Given the description of an element on the screen output the (x, y) to click on. 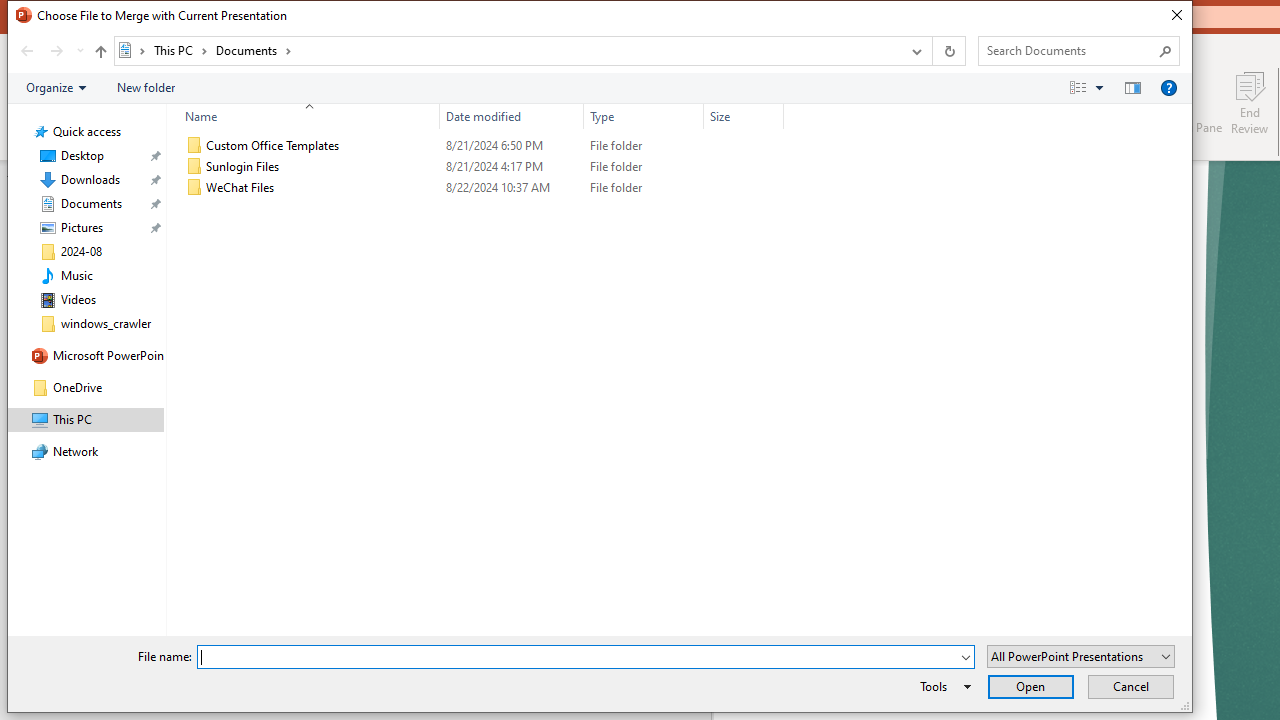
New folder (145, 87)
Refresh "Documents" (F5) (948, 51)
Tools (942, 686)
Sunlogin Files (480, 166)
File name: (586, 656)
Name (303, 115)
Up to "This PC" (Alt + Up Arrow) (100, 52)
All locations (132, 50)
Size (743, 187)
Size (743, 115)
Type (643, 115)
Date modified (511, 115)
Name (321, 187)
